Given the description of an element on the screen output the (x, y) to click on. 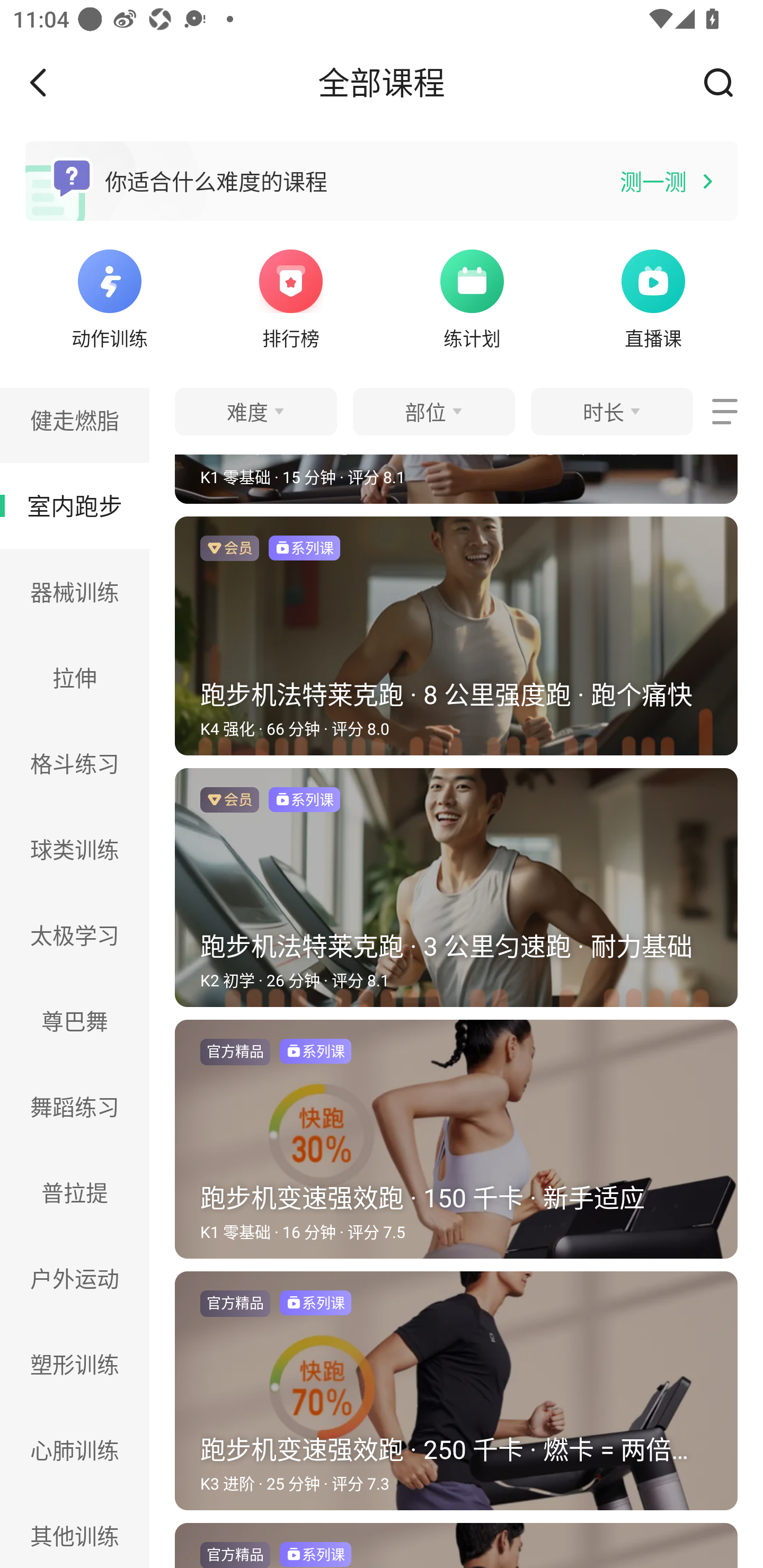
Left Button In Title Bar (50, 82)
Right Button In Title Bar (724, 82)
你适合什么难度的课程 测一测 (381, 181)
动作训练 (109, 297)
排行榜 (290, 297)
练计划 (471, 297)
直播课 (653, 297)
健走燃脂 (74, 424)
难度 (255, 411)
部位 (433, 411)
时长 (611, 411)
室内跑步 (74, 505)
器械训练 (74, 591)
拉伸 (74, 677)
格斗练习 (74, 762)
球类训练 (74, 848)
太极学习 (74, 935)
尊巴舞 (74, 1020)
舞蹈练习 (74, 1106)
普拉提 (74, 1192)
户外运动 (74, 1278)
塑形训练 (74, 1363)
心肺训练 (74, 1449)
其他训练 (74, 1530)
